Given the description of an element on the screen output the (x, y) to click on. 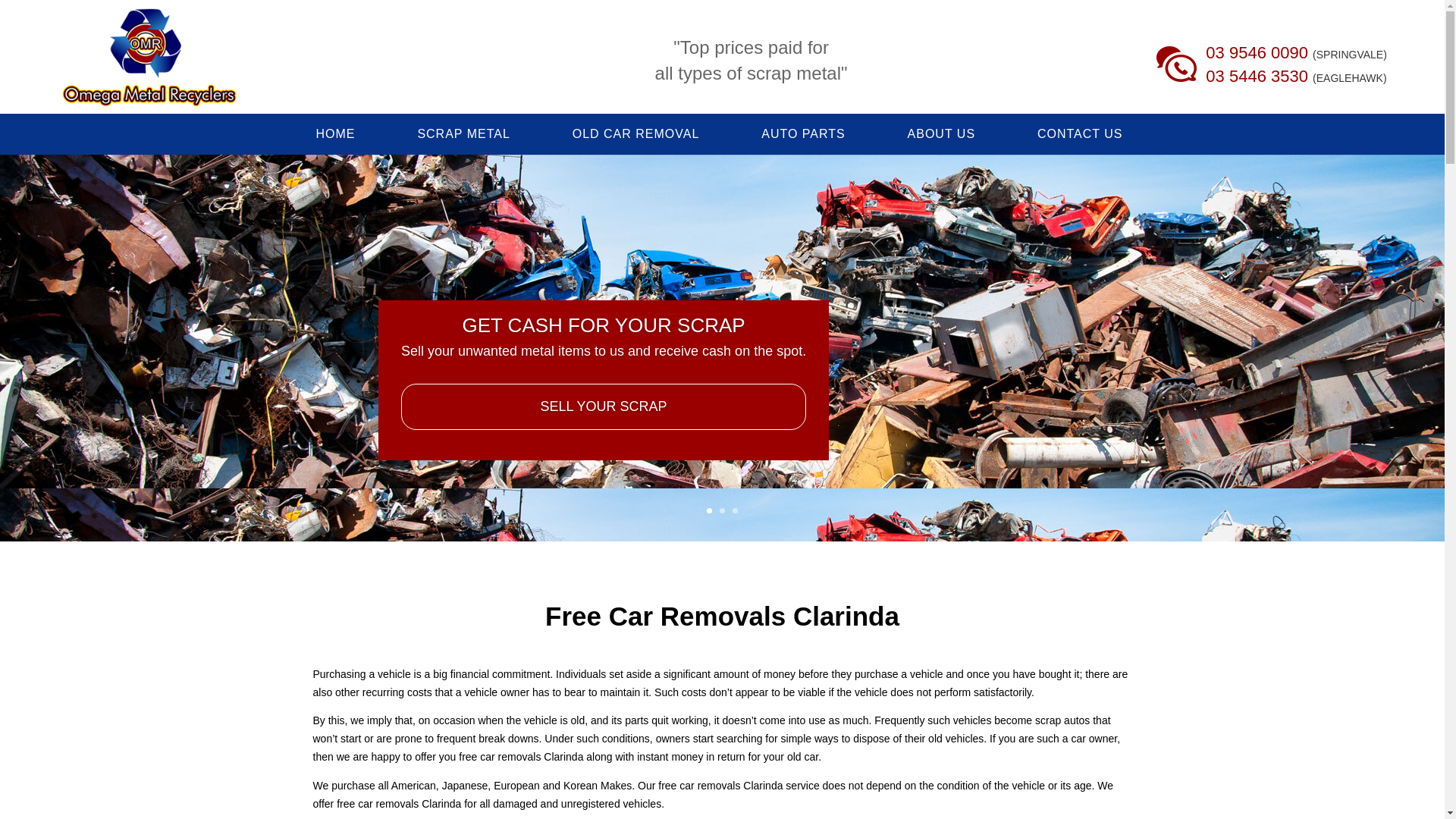
HOME Element type: text (335, 133)
SELL YOUR SCRAP Element type: text (603, 406)
1 Element type: text (709, 510)
CONTACT US Element type: text (1080, 133)
3 Element type: text (734, 510)
2 Element type: text (721, 510)
OLD CAR REMOVAL Element type: text (636, 133)
03 5446 3530 (EAGLEHAWK) Element type: text (1295, 75)
03 9546 0090 (SPRINGVALE) Element type: text (1295, 52)
ABOUT US Element type: text (941, 133)
AUTO PARTS Element type: text (802, 133)
SCRAP METAL Element type: text (462, 133)
